Given the description of an element on the screen output the (x, y) to click on. 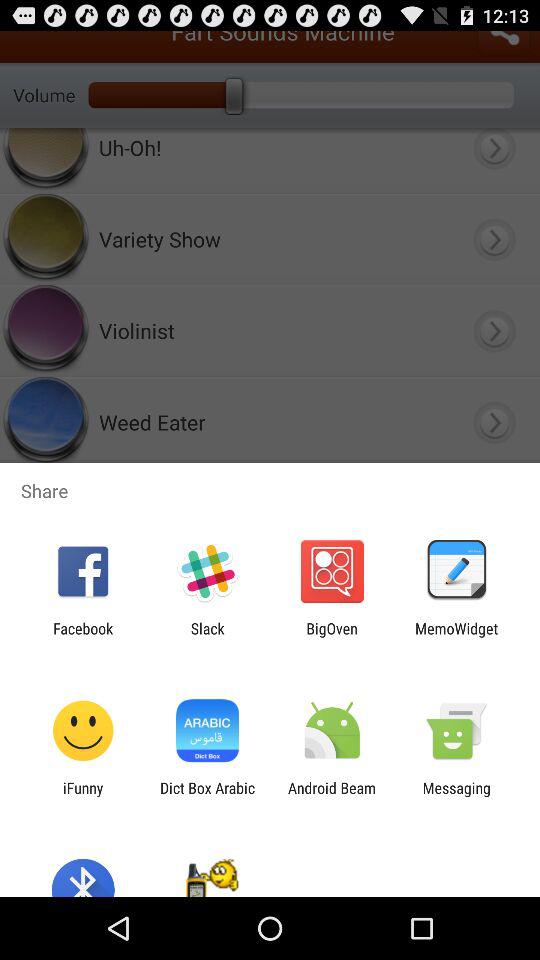
select icon to the left of the android beam item (207, 796)
